Given the description of an element on the screen output the (x, y) to click on. 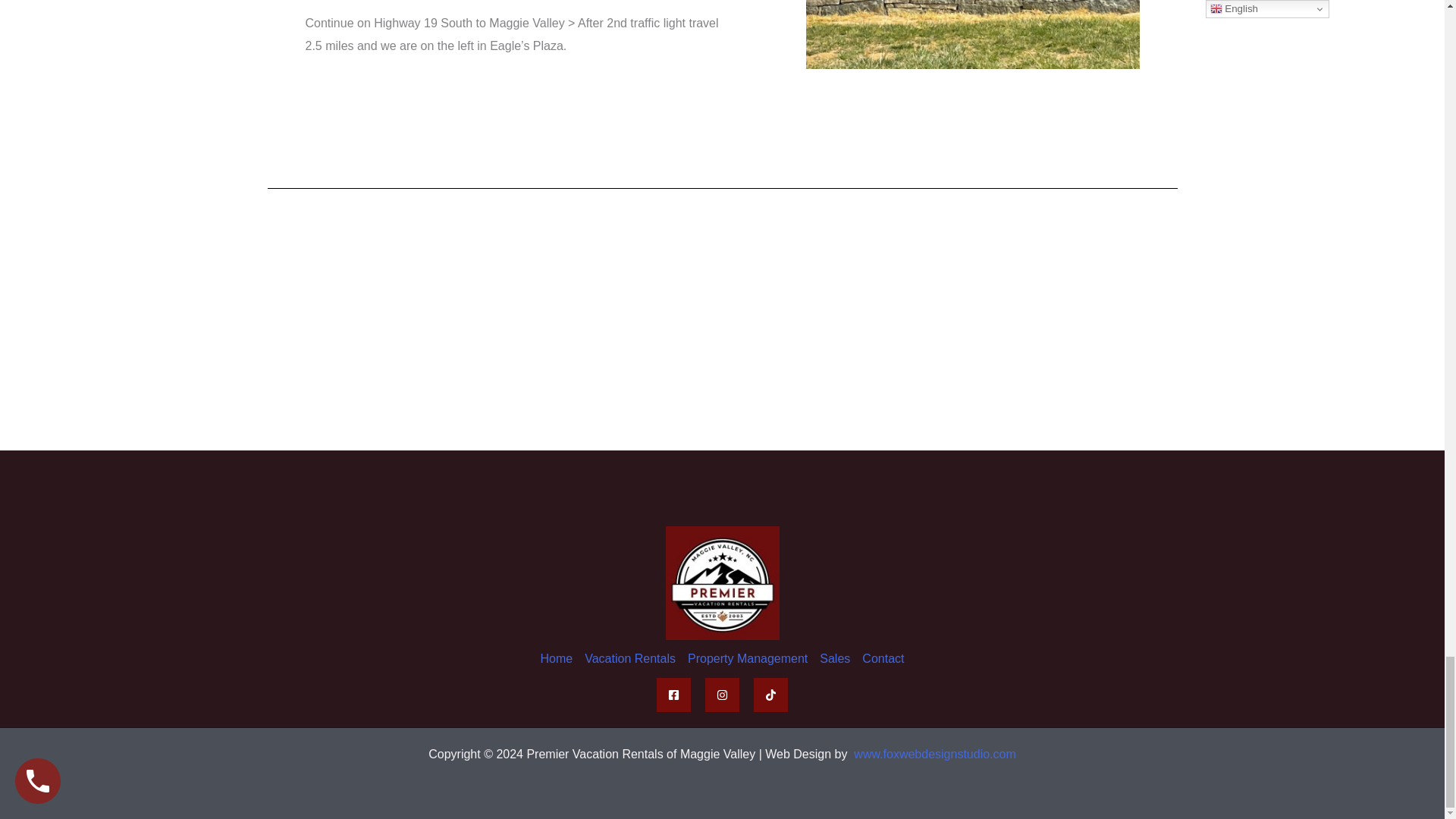
Home (559, 658)
Property Management (747, 658)
Contact (880, 658)
Sales (834, 658)
www.foxwebdesignstudio.com (933, 753)
Vacation Rentals (629, 658)
